Given the description of an element on the screen output the (x, y) to click on. 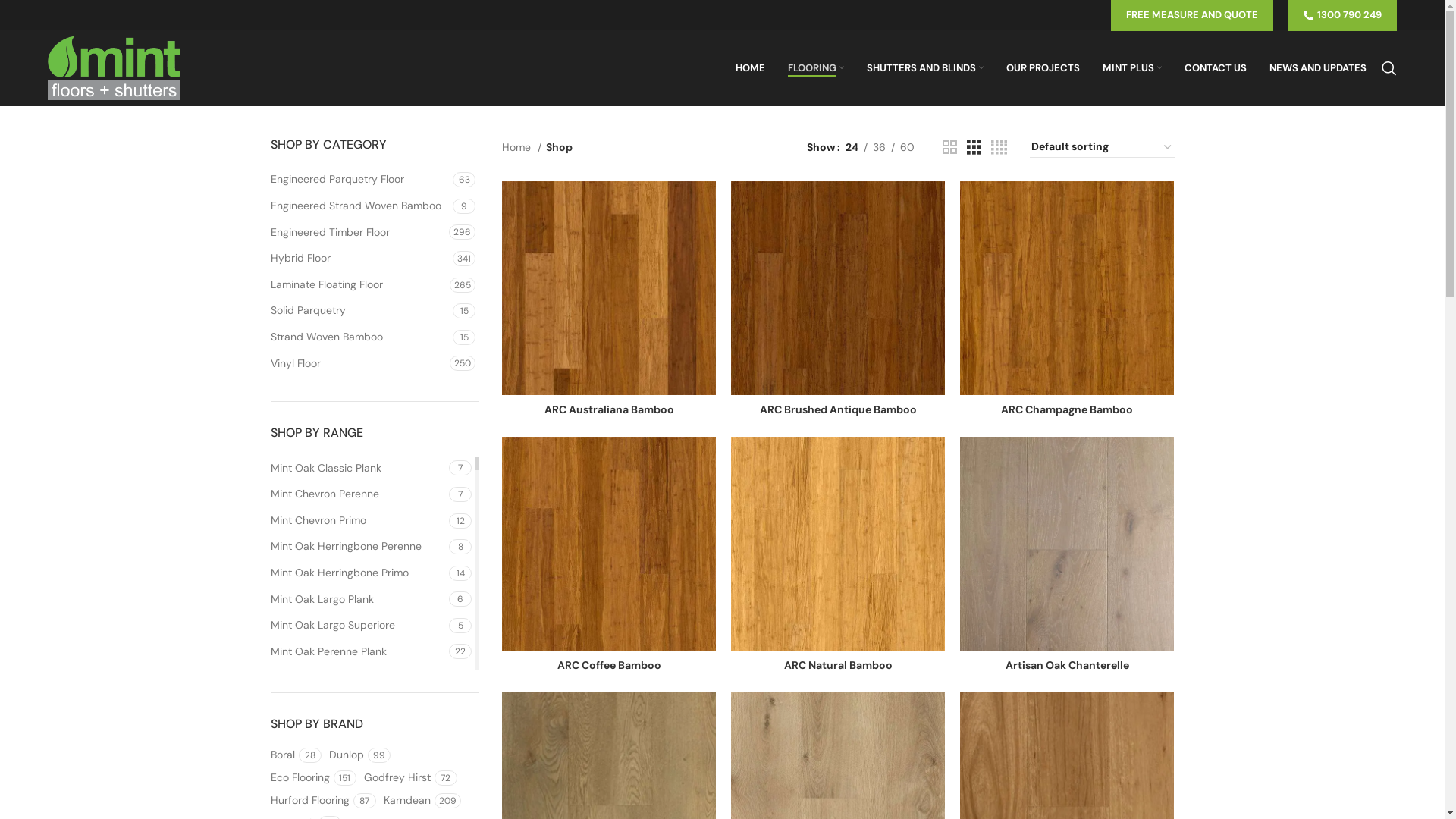
ARC Champagne Bamboo Element type: text (1066, 409)
Mint Oak Primo Superiore Element type: text (357, 756)
Mint Oak Largo Plank Element type: text (357, 599)
ARC Brushed Antique Bamboo Element type: text (837, 409)
Winner Solid Commercial Floor of the Year 2023 Element type: text (636, 585)
60 Element type: text (906, 146)
Surry Hills Showroom Element type: text (785, 604)
FLOORING Element type: text (815, 68)
Mint Oak Perenne Plank Element type: text (357, 651)
Mint Oak Herringbone Primo Element type: text (357, 572)
ARC Natural Bamboo Element type: text (838, 664)
Untitled design (56) Element type: hover (530, 593)
ARC Australiana Bamboo Element type: text (609, 409)
Home Element type: text (521, 146)
Solid Parquetry Element type: text (358, 310)
36 Element type: text (879, 146)
Commercial & Trade Centre Element type: text (802, 630)
HOME Element type: text (750, 68)
Mint Oak Classic Plank Element type: text (357, 468)
Engineered Strand Woven Bamboo Element type: text (358, 205)
Artisan Oak Chanterelle Element type: text (1067, 664)
Strand Woven Bamboo Element type: text (358, 337)
Mint Oak Herringbone Perenne Element type: text (357, 546)
Search Element type: hover (1389, 68)
Eco Flooring Element type: text (299, 777)
Mint Chevron Perenne Element type: text (357, 494)
Mint Oak Primo Plank Element type: text (357, 729)
NEWS AND UPDATES Element type: text (1317, 68)
Mint Oak Pronto Herringbone Element type: text (357, 782)
Engineered Timber Floor Element type: text (357, 232)
Caringbah Showroom Element type: text (786, 577)
Mint Chevron Primo Element type: text (357, 520)
ARC Coffee Bamboo Element type: text (609, 664)
24 Element type: text (851, 146)
MINT PLUS Element type: text (1131, 68)
Hybrid Floor Element type: text (358, 258)
Karndean Element type: text (406, 800)
Engineered Parquetry Floor Element type: text (358, 179)
Vinyl Floor Element type: text (357, 363)
Processed with VSCO with e1 preset Element type: hover (530, 667)
sales@mintfloors.com.au Element type: text (1074, 645)
Mint Oak Pronto Plank Element type: text (357, 704)
Godfrey Hirst Element type: text (397, 777)
Mint Oak Perenne Superiore Element type: text (357, 677)
Hurford Flooring Element type: text (308, 800)
Laminate Floating Floor Element type: text (357, 284)
Mint Oak Largo Superiore Element type: text (357, 625)
CONTACT US Element type: text (1215, 68)
OUR PROJECTS Element type: text (1042, 68)
1300 790 249 Element type: text (1053, 623)
SHUTTERS AND BLINDS Element type: text (924, 68)
Revive your timber floors with timber floor power washing Element type: text (634, 666)
Boral Element type: text (281, 754)
TDG Property. Element type: text (848, 763)
Dunlop Element type: text (346, 754)
